Given the description of an element on the screen output the (x, y) to click on. 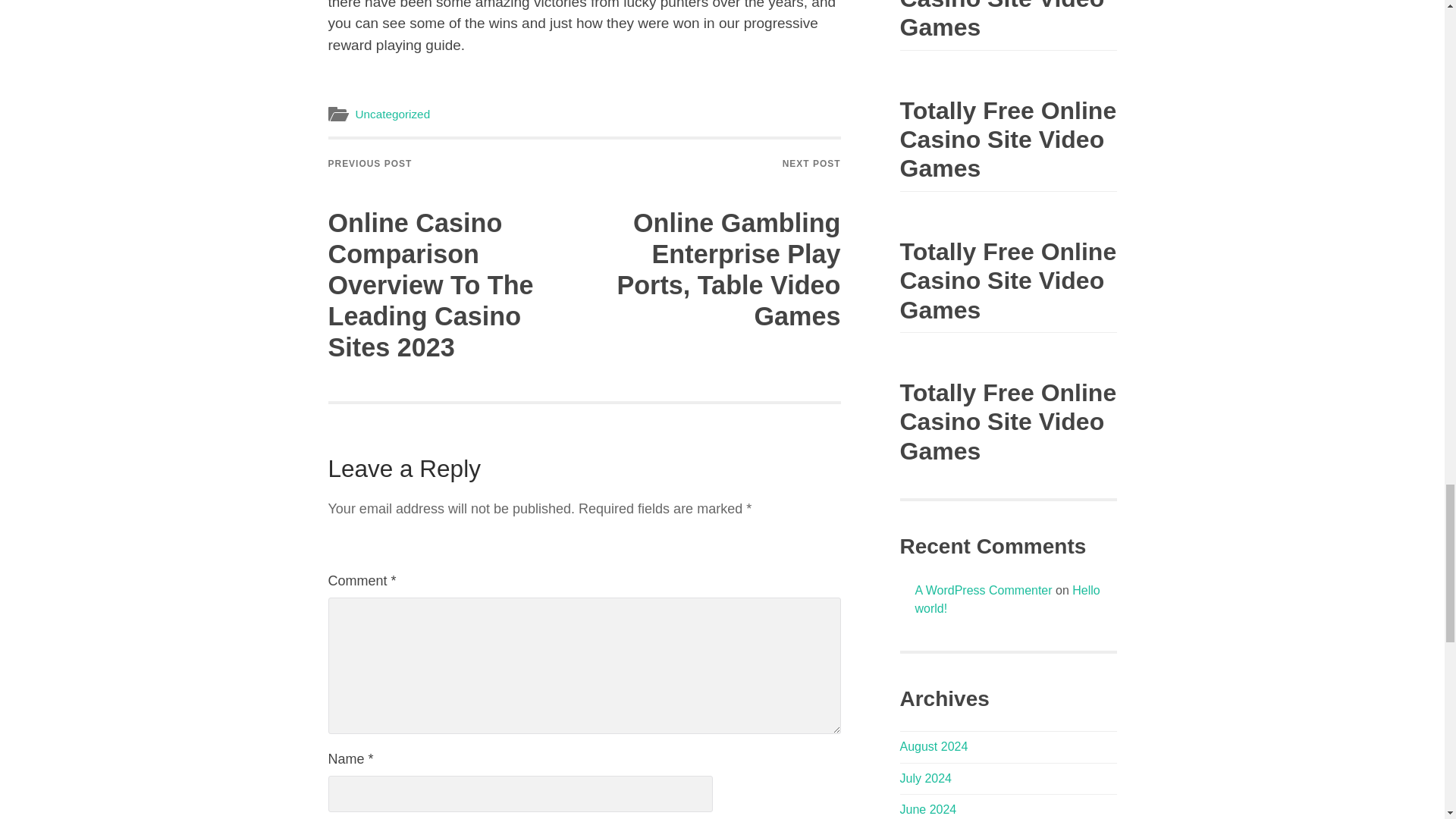
Uncategorized (392, 113)
